Given the description of an element on the screen output the (x, y) to click on. 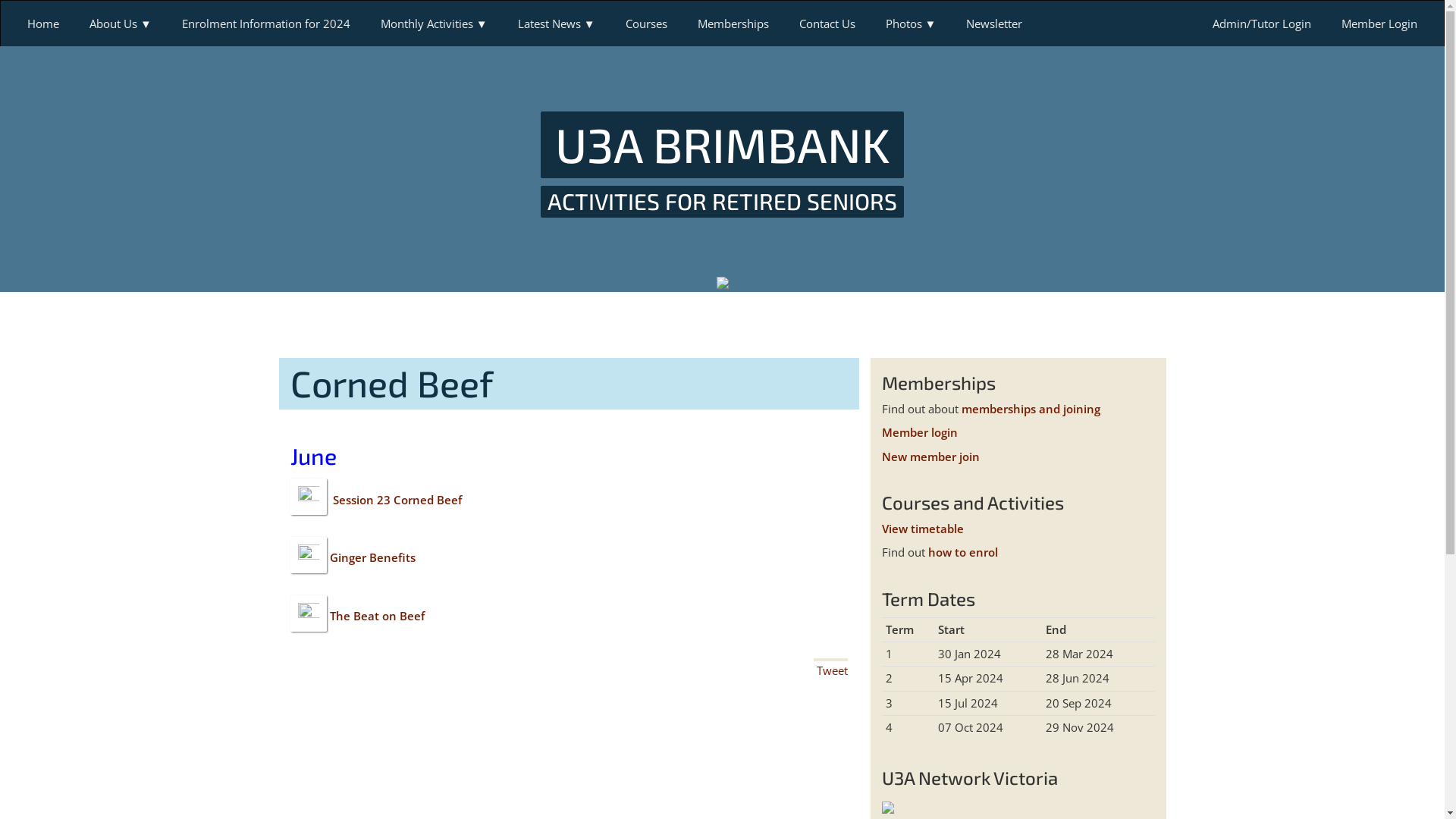
Newsletter Element type: text (993, 23)
Memberships Element type: text (733, 23)
Contact Us Element type: text (827, 23)
Member login Element type: text (919, 431)
Courses Element type: text (646, 23)
memberships and joining Element type: text (1030, 408)
U3A BRIMBANK
ACTIVITIES FOR RETIRED SENIORS Element type: text (722, 163)
how to enrol Element type: text (962, 551)
New member join Element type: text (930, 456)
Latest News Element type: text (556, 23)
Member Login Element type: text (1379, 23)
Enrolment Information for 2024 Element type: text (265, 23)
View timetable Element type: text (922, 528)
Home Element type: text (43, 23)
 Session 23 Corned Beef Element type: text (395, 499)
Ginger Benefits Element type: text (371, 557)
The Beat on Beef Element type: text (376, 615)
Admin/Tutor Login Element type: text (1261, 23)
About Us Element type: text (120, 23)
Photos Element type: text (910, 23)
Monthly Activities Element type: text (433, 23)
Tweet Element type: text (831, 669)
